Given the description of an element on the screen output the (x, y) to click on. 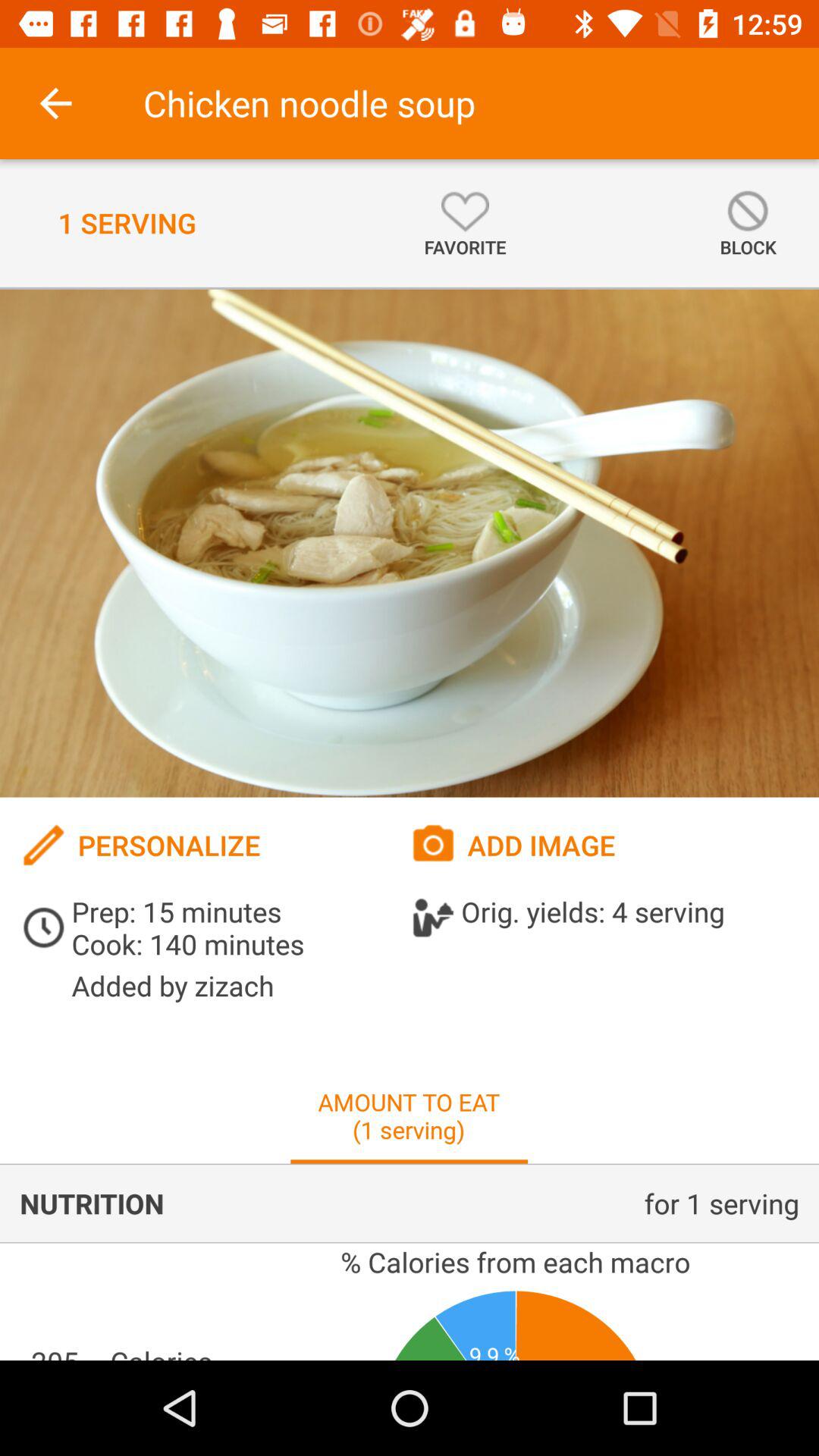
scroll to add image (604, 844)
